Given the description of an element on the screen output the (x, y) to click on. 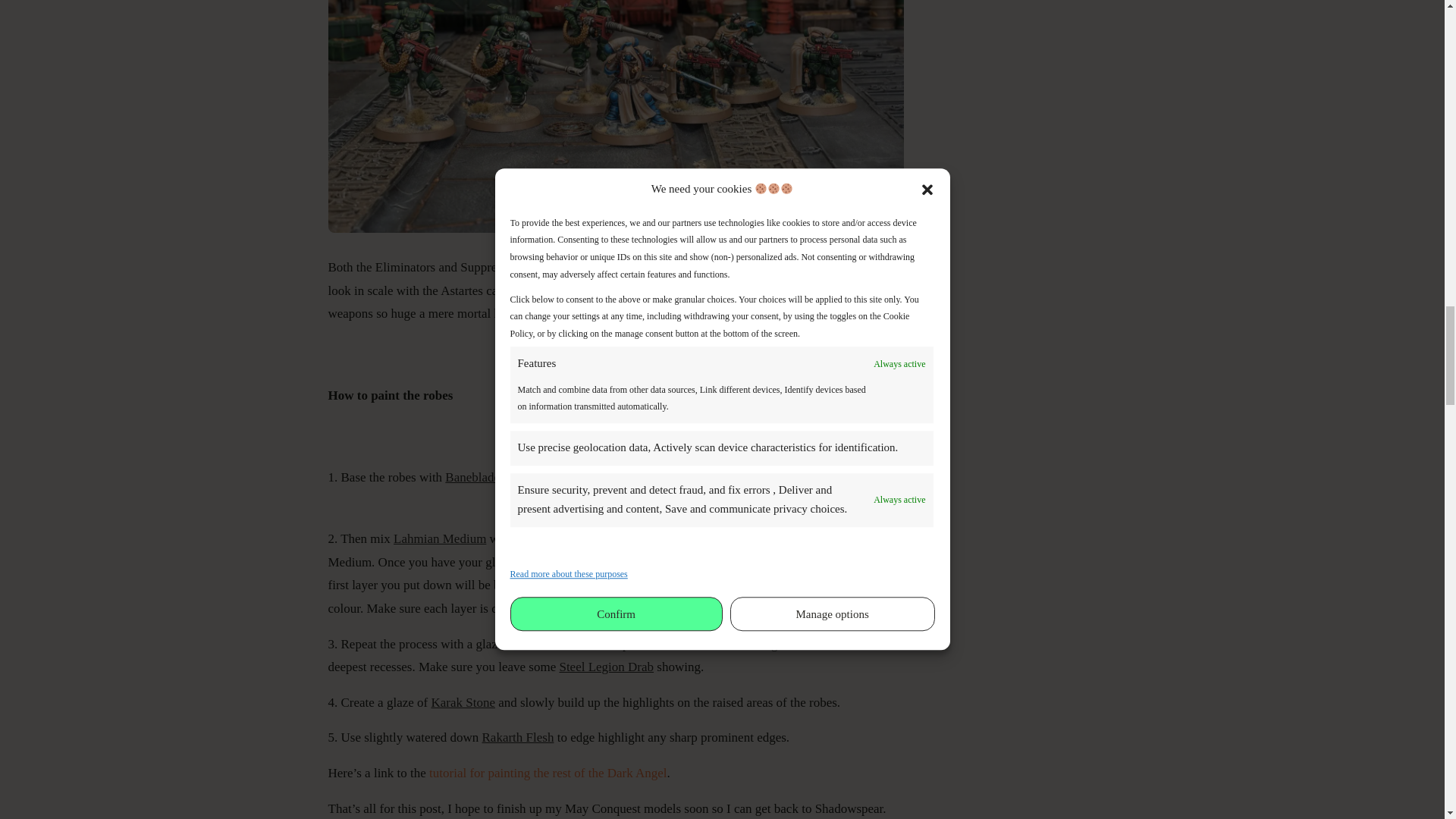
XV-88 (535, 644)
Steel Legion Drab (776, 644)
Lahmian Medium (439, 538)
Steel Legion Drab (606, 667)
Rakarth Flesh (517, 737)
Baneblade Brown (491, 477)
Steel Legion Drab (562, 538)
Karak Stone (462, 702)
